Given the description of an element on the screen output the (x, y) to click on. 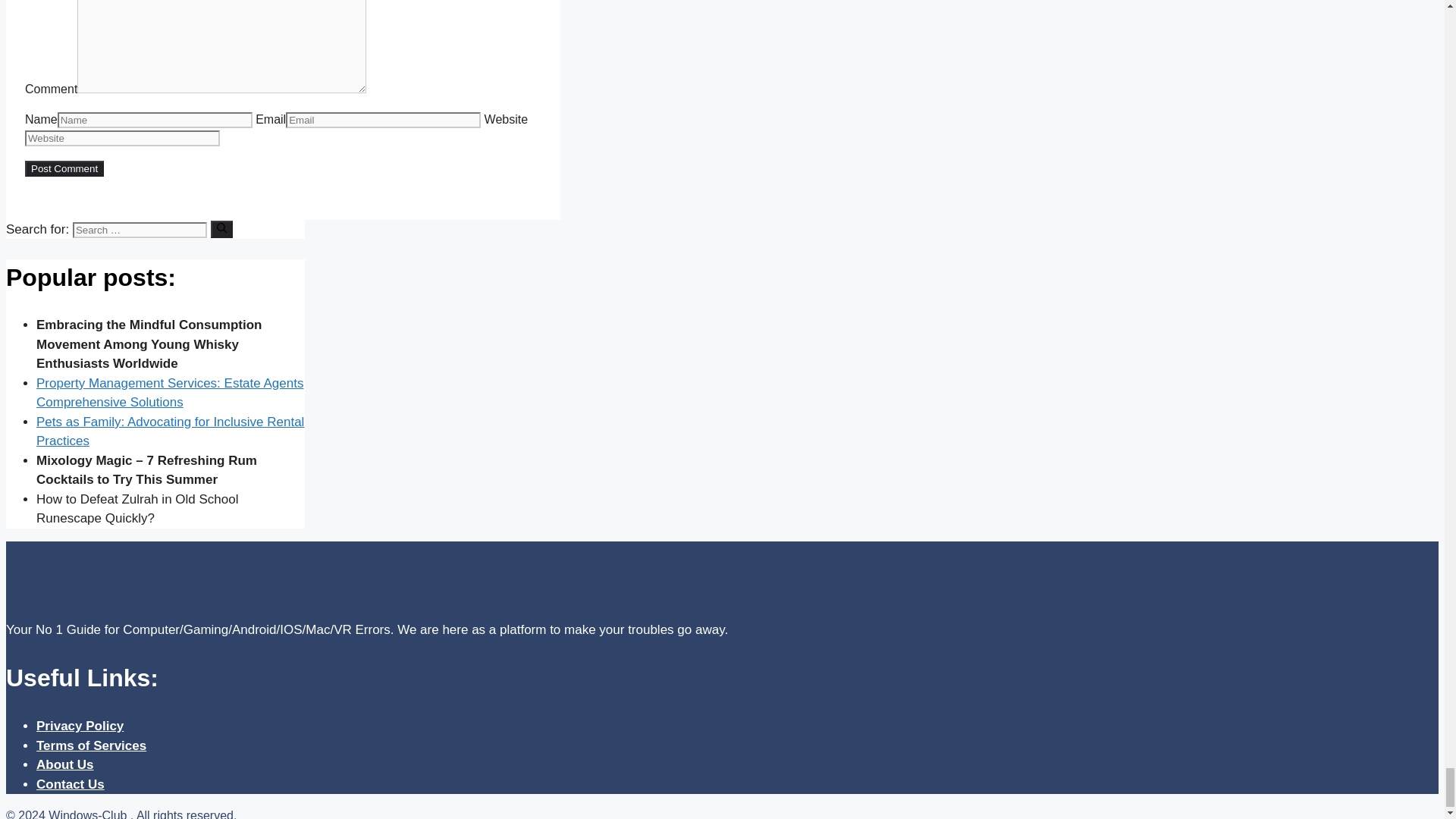
Post Comment (63, 168)
Search for: (139, 229)
